Given the description of an element on the screen output the (x, y) to click on. 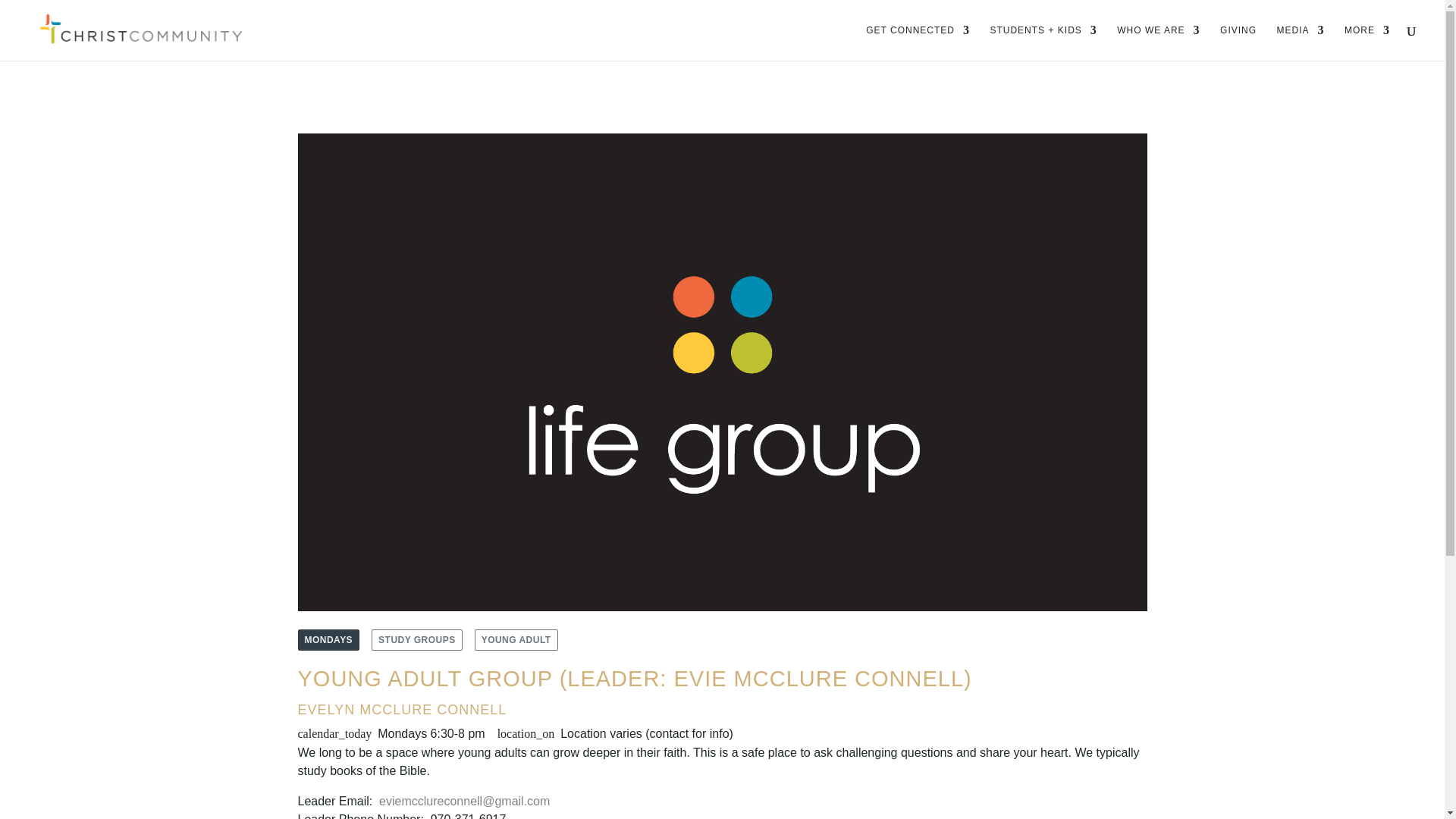
GET CONNECTED (917, 42)
STUDY GROUPS (417, 639)
YOUNG ADULT (515, 639)
WHO WE ARE (1157, 42)
MEDIA (1300, 42)
GIVING (1238, 42)
MONDAYS (328, 639)
MORE (1366, 42)
